Given the description of an element on the screen output the (x, y) to click on. 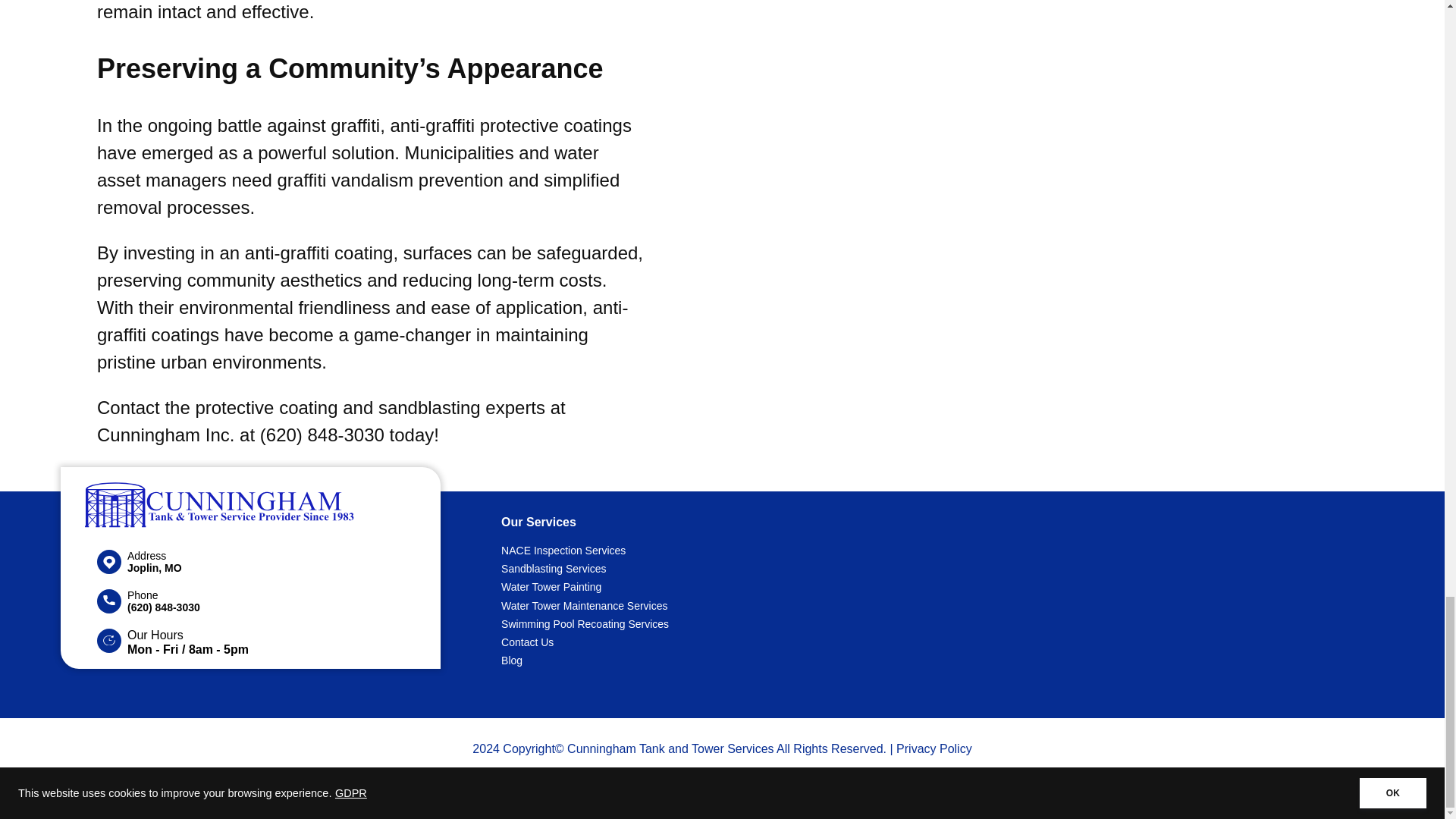
Blog (688, 660)
Privacy Policy (934, 748)
NACE Inspection Services (688, 550)
Website designed by Zimmer Marketing (722, 774)
Swimming Pool Recoating Services (688, 624)
Water Tower Painting (688, 587)
Water Tower Maintenance Services (688, 606)
Sandblasting Services (688, 568)
Contact Us (688, 642)
